Given the description of an element on the screen output the (x, y) to click on. 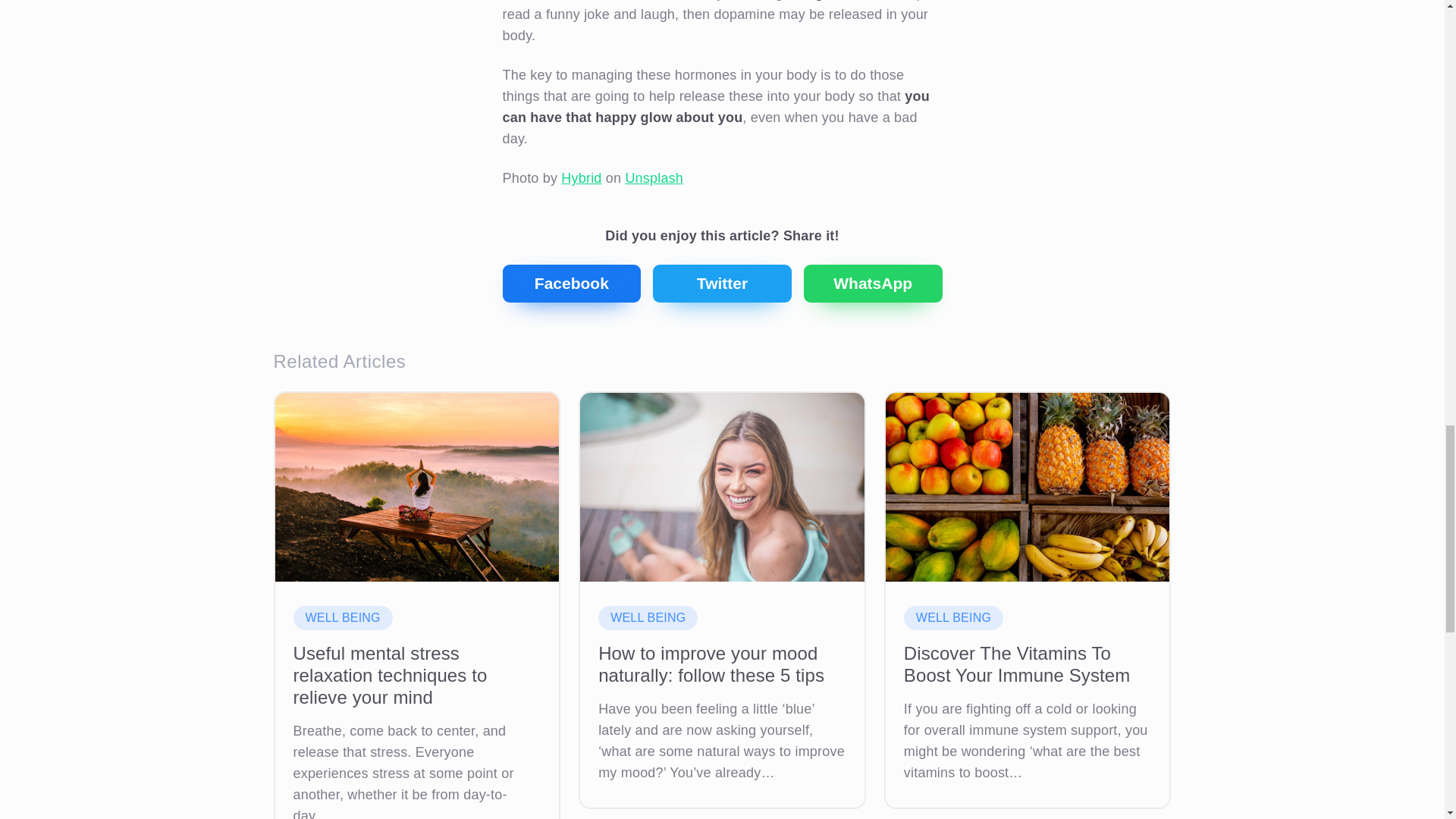
Facebook (571, 283)
WELL BEING (647, 617)
How to improve your mood naturally: follow these 5 tips (721, 664)
Hybrid (580, 177)
WhatsApp (872, 283)
Discover The Vitamins To Boost Your Immune System (1027, 664)
WELL BEING (341, 617)
Twitter (722, 283)
WELL BEING (953, 617)
Unsplash (653, 177)
